Given the description of an element on the screen output the (x, y) to click on. 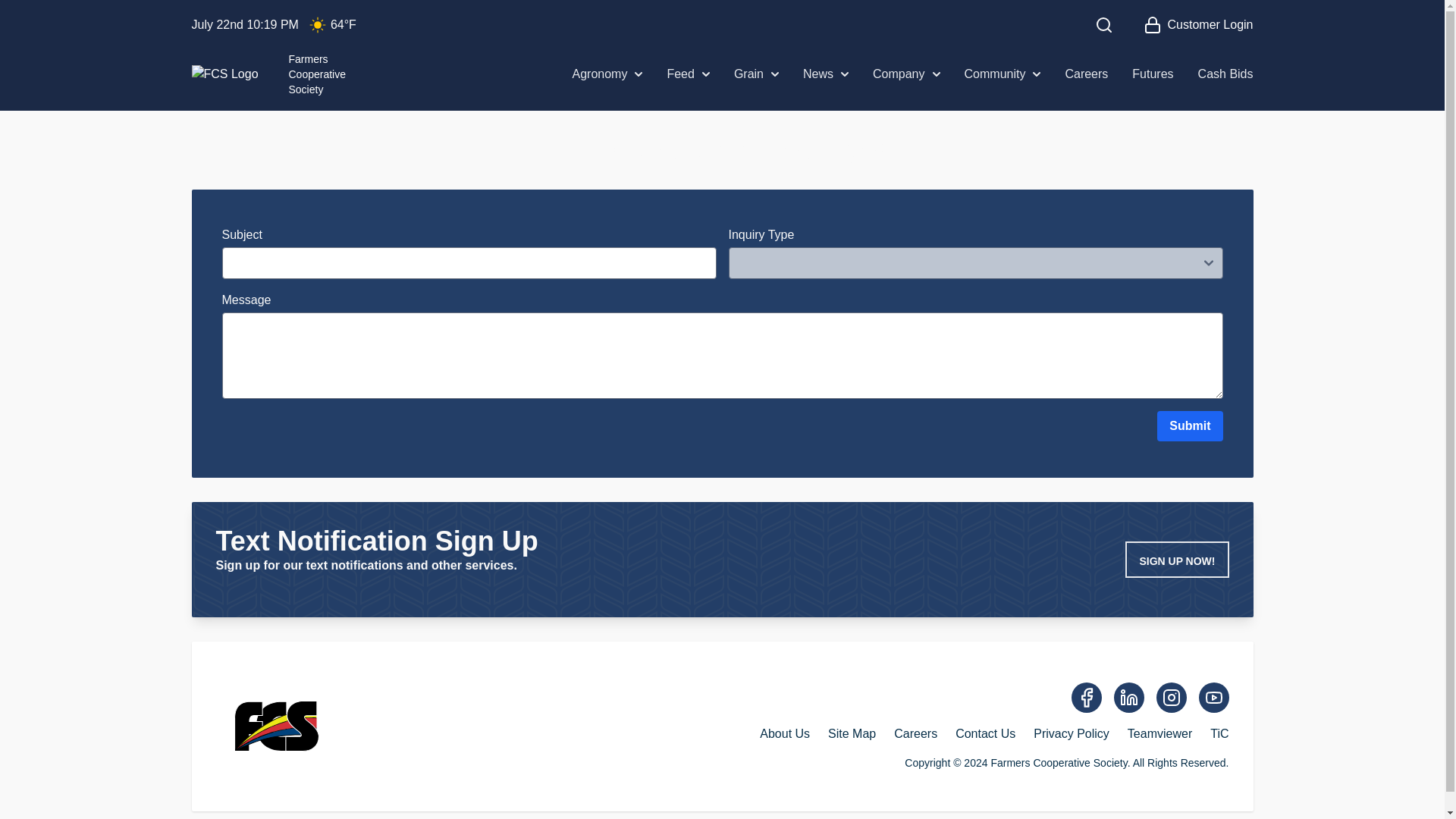
Feed (687, 74)
Customer Login (1197, 24)
Agronomy (607, 74)
Sunny (268, 74)
Company (317, 24)
News (905, 74)
Grain (825, 74)
